Given the description of an element on the screen output the (x, y) to click on. 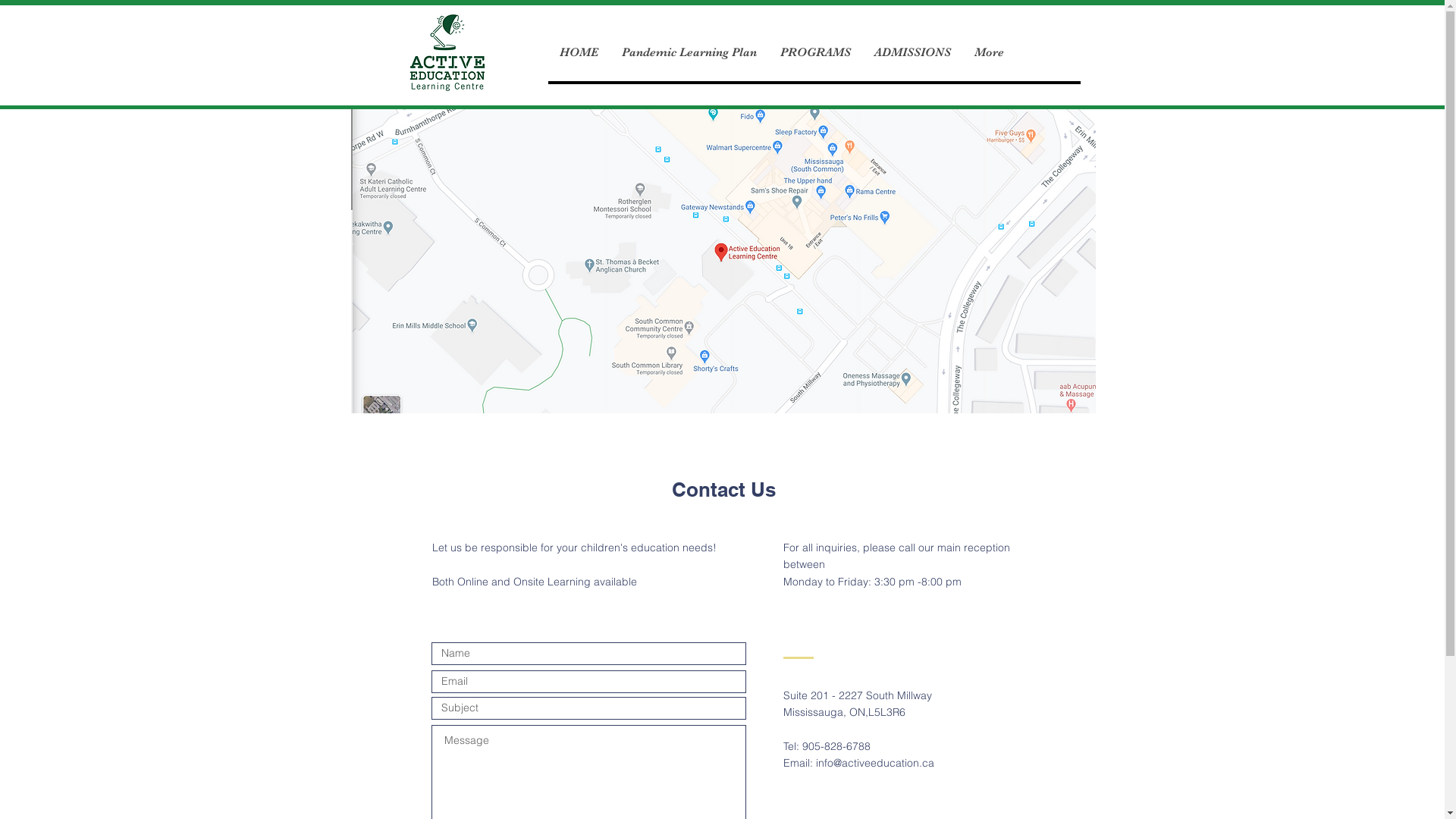
PROGRAMS Element type: text (814, 52)
Pandemic Learning Plan Element type: text (688, 52)
info@activeeducation.ca Element type: text (874, 762)
HOME Element type: text (577, 52)
ADMISSIONS Element type: text (911, 52)
